Given the description of an element on the screen output the (x, y) to click on. 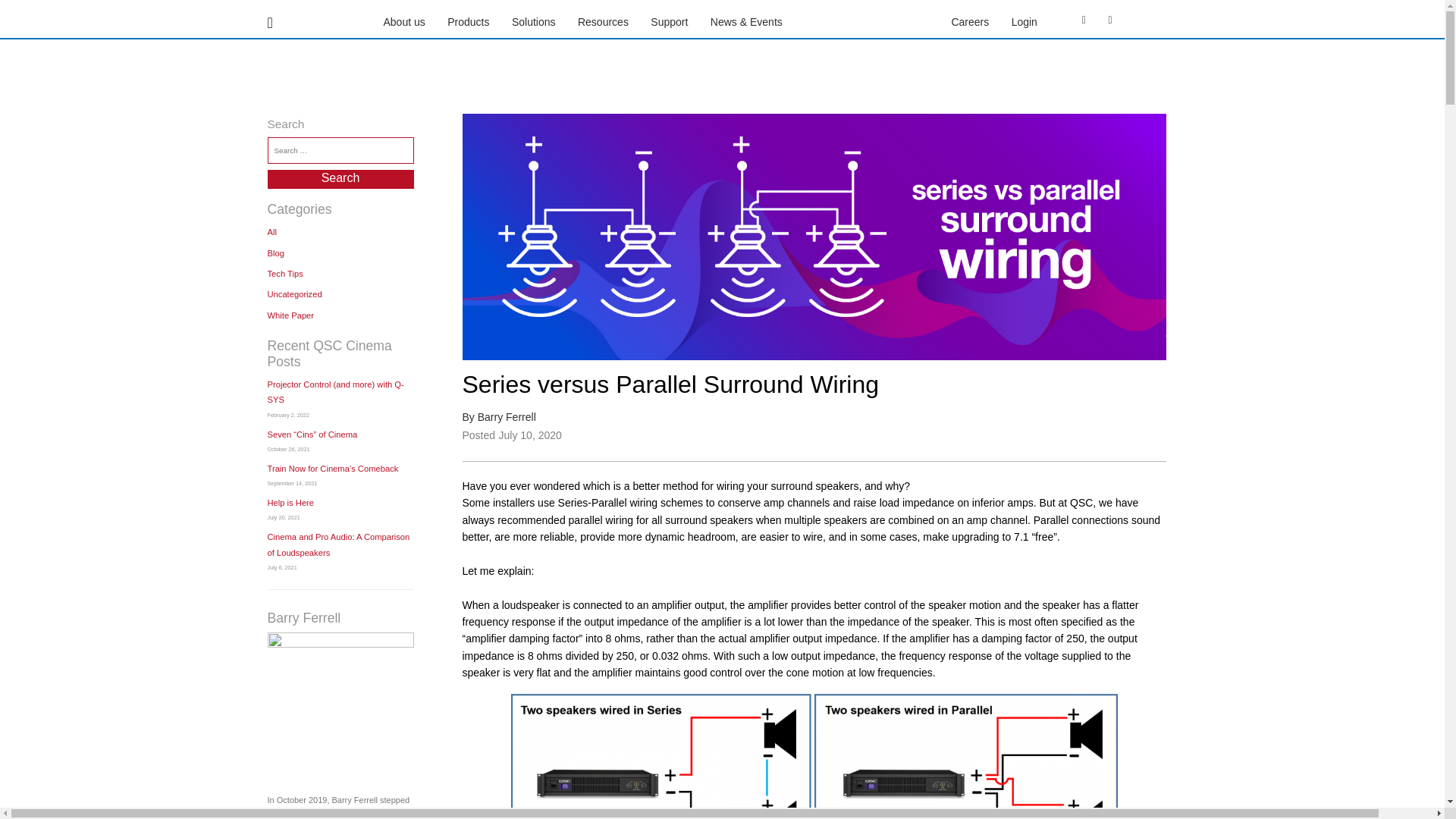
Search (339, 179)
Resources (603, 21)
About us (404, 21)
Products (467, 21)
Support (668, 21)
Search (339, 179)
Solutions (534, 21)
